Given the description of an element on the screen output the (x, y) to click on. 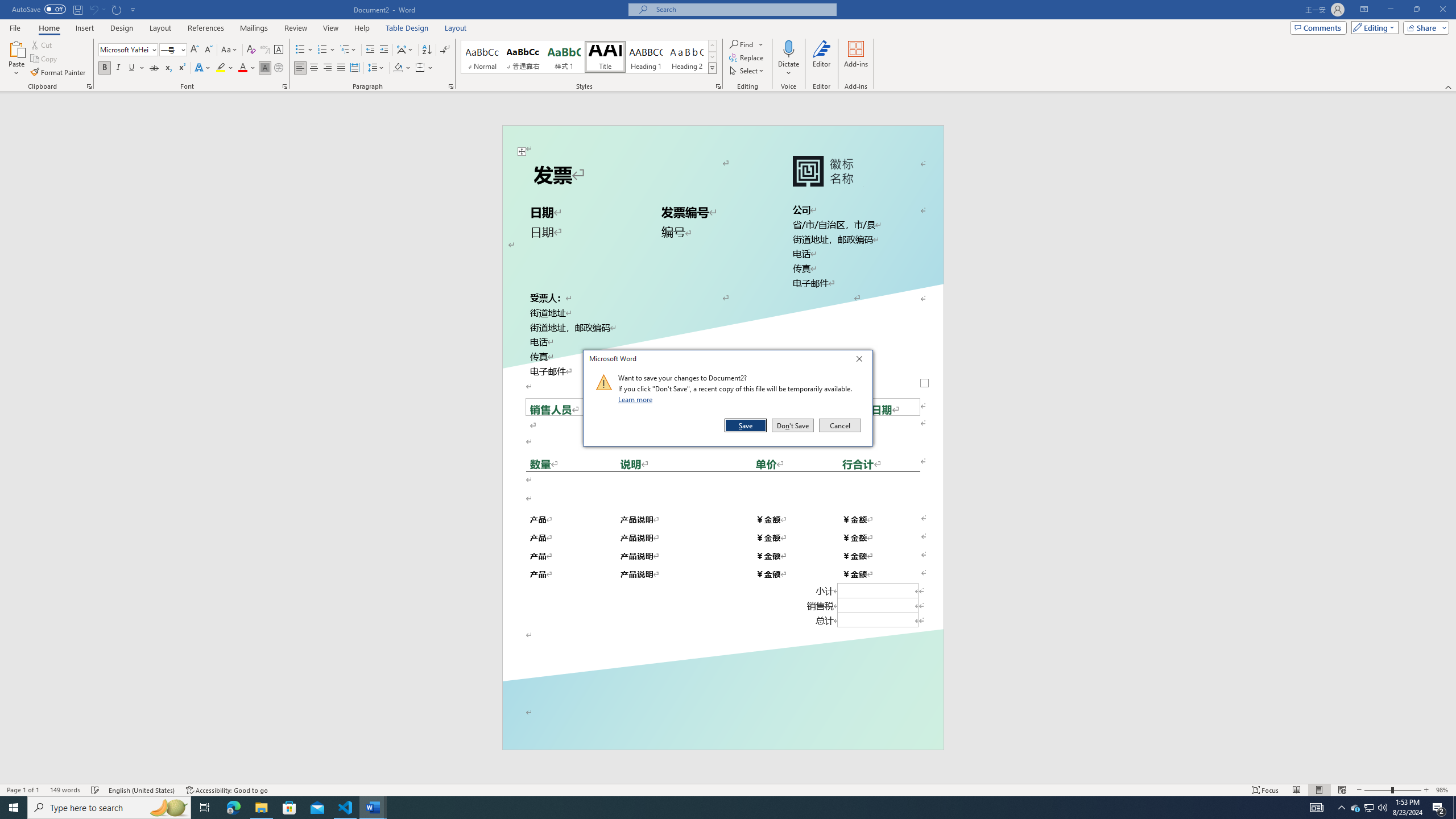
Shading (402, 67)
Font (128, 49)
Replace... (747, 56)
Search highlights icon opens search home window (167, 807)
Task View (204, 807)
Table Design (407, 28)
Office Clipboard... (88, 85)
Zoom In (1426, 790)
Font Size (169, 49)
System (6, 6)
Row Down (711, 56)
Focus  (1265, 790)
AutomationID: 4105 (1316, 807)
